Given the description of an element on the screen output the (x, y) to click on. 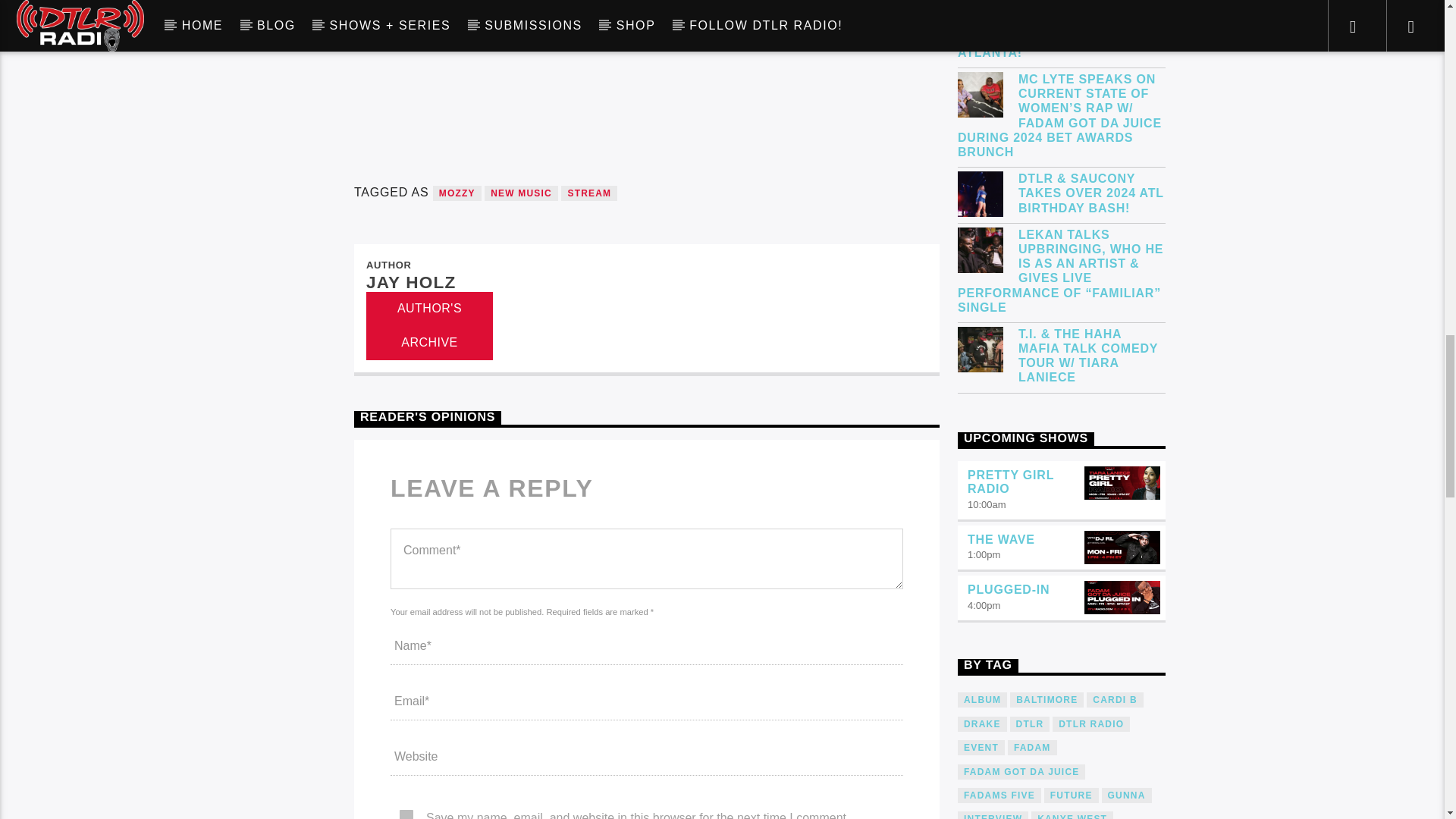
Spotify Embed: Kommunity Service (646, 69)
